Given the description of an element on the screen output the (x, y) to click on. 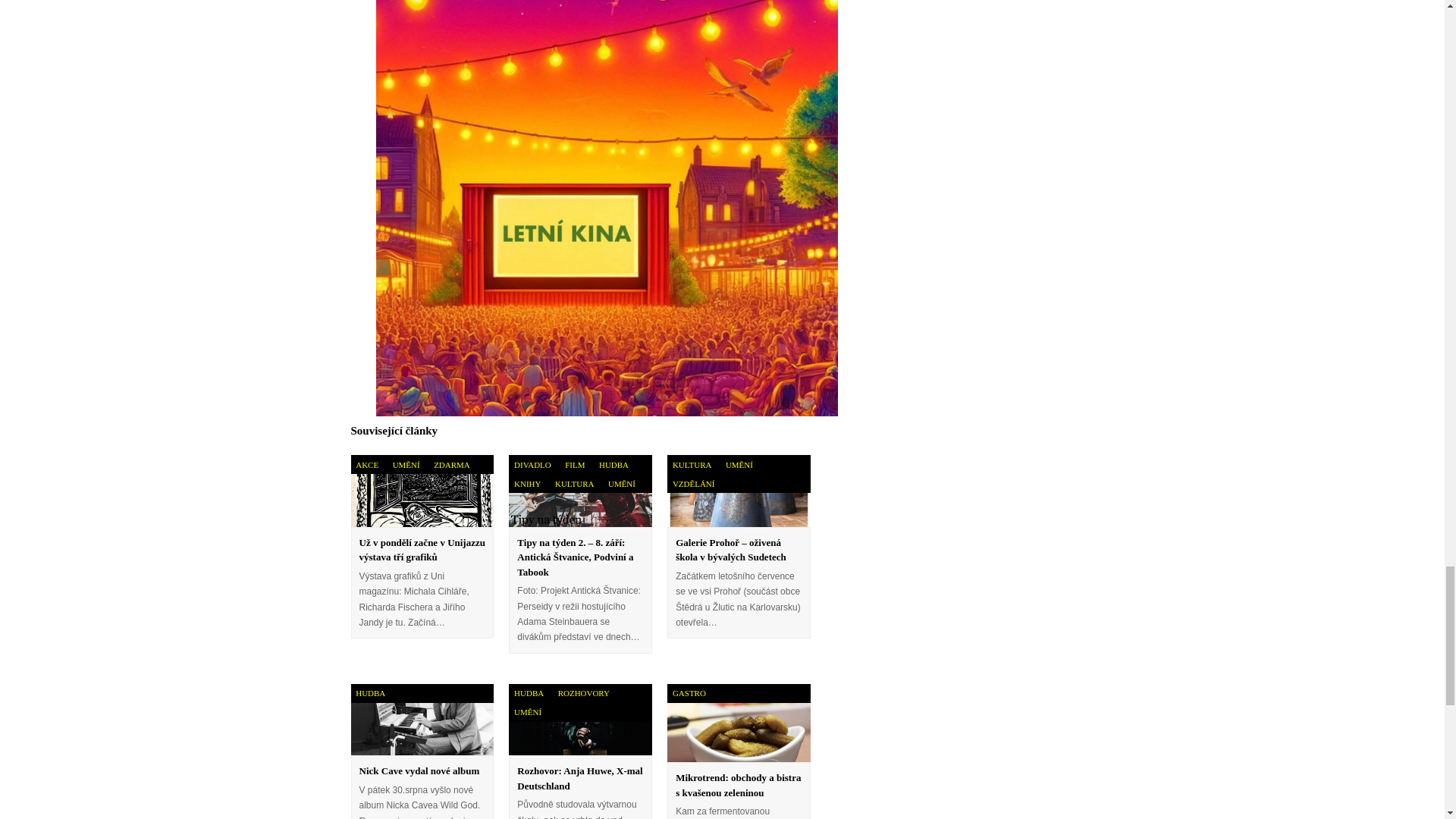
FILM (574, 464)
zdarma (451, 464)
ZDARMA (451, 464)
DIVADLO (532, 464)
HUDBA (613, 464)
AKCE (366, 464)
hudba (613, 464)
kultura (574, 483)
akce (366, 464)
divadlo (532, 464)
